Given the description of an element on the screen output the (x, y) to click on. 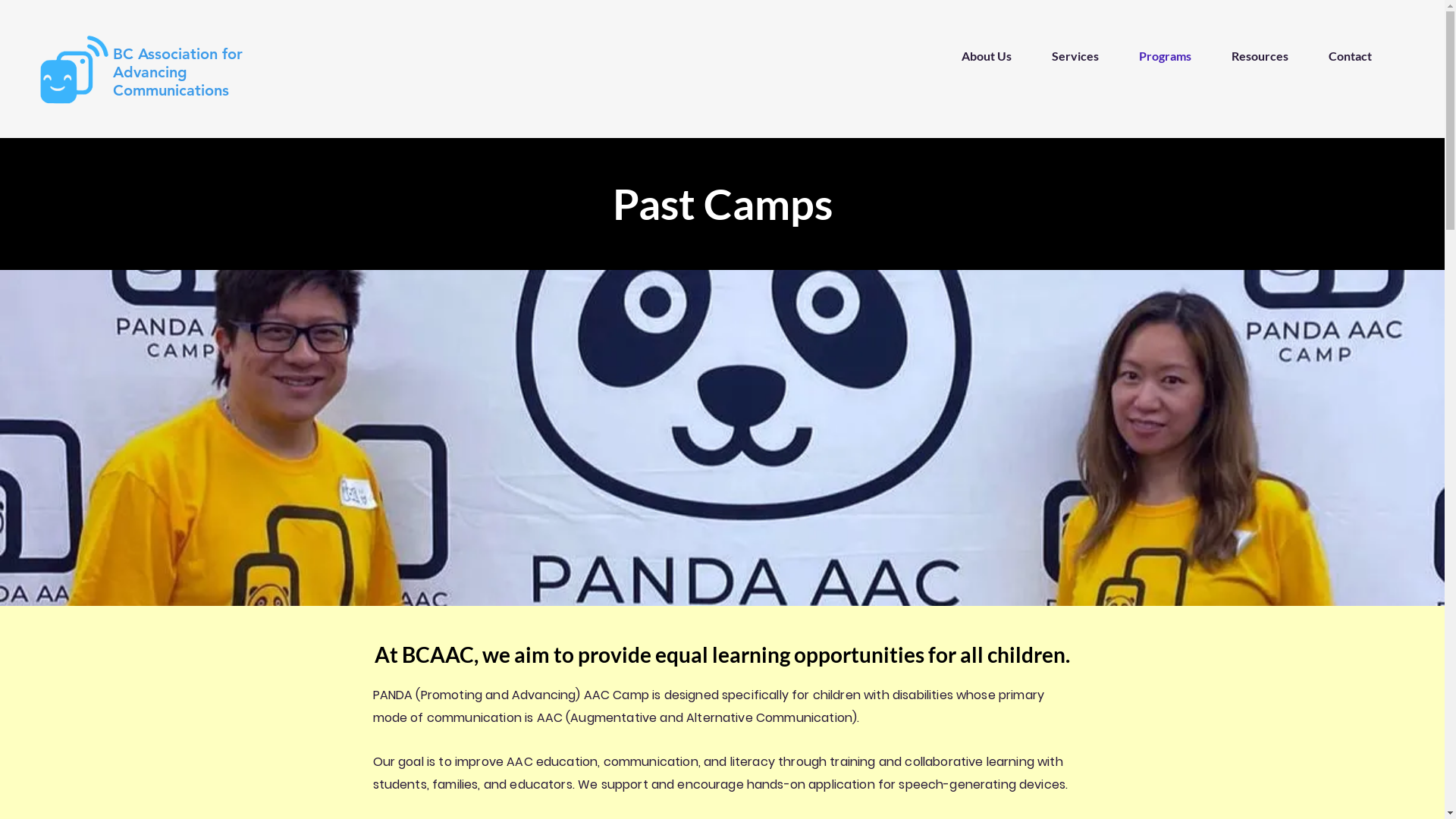
Services Element type: text (1066, 55)
Resources Element type: text (1250, 55)
Programs Element type: text (1156, 55)
About Us Element type: text (976, 55)
BC Association for Advancing Communications Element type: text (177, 71)
Contact Element type: text (1341, 55)
